Given the description of an element on the screen output the (x, y) to click on. 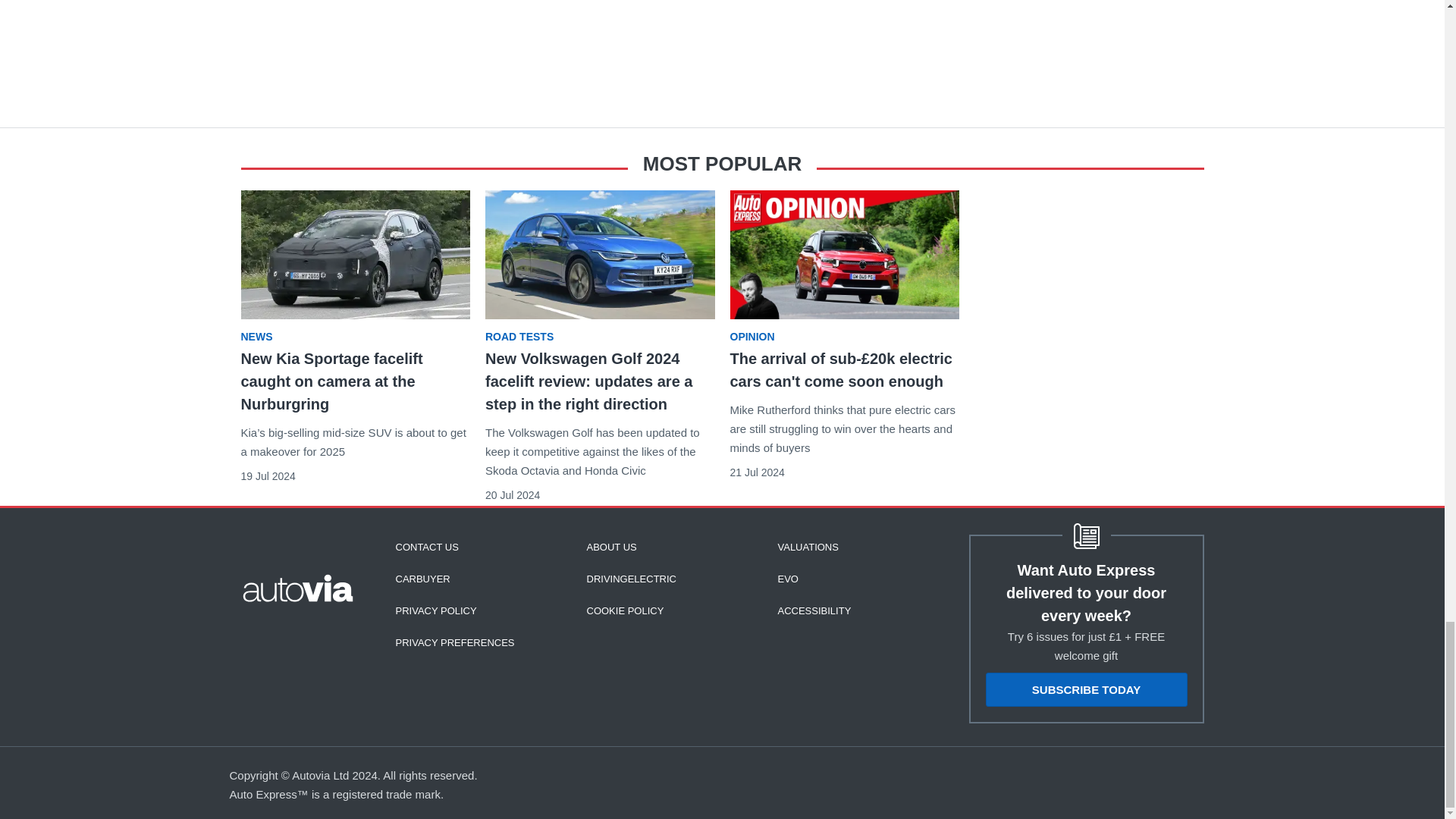
SUBSCRIBE TODAY (1086, 689)
